Given the description of an element on the screen output the (x, y) to click on. 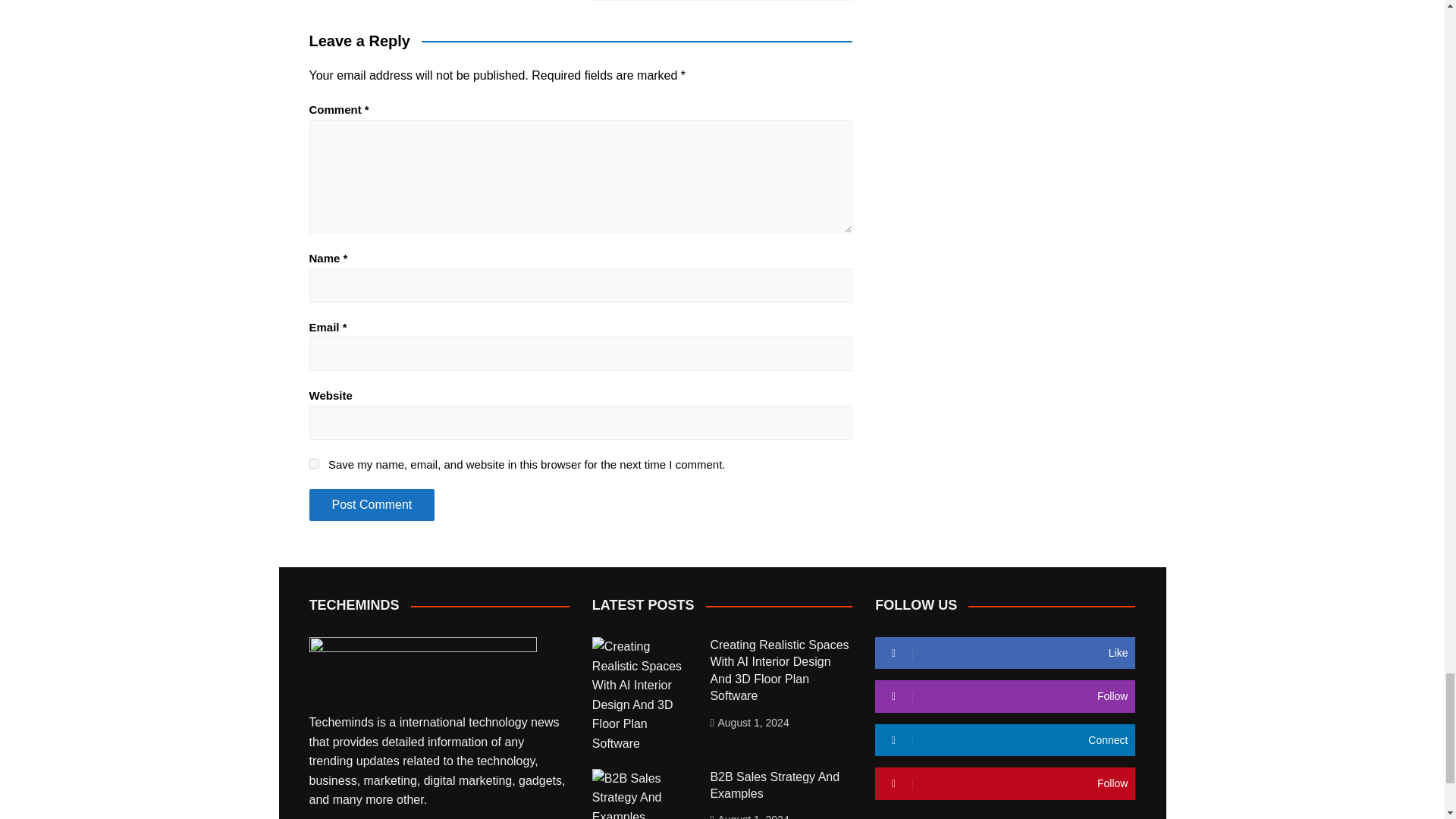
Post Comment (371, 504)
yes (313, 463)
